Given the description of an element on the screen output the (x, y) to click on. 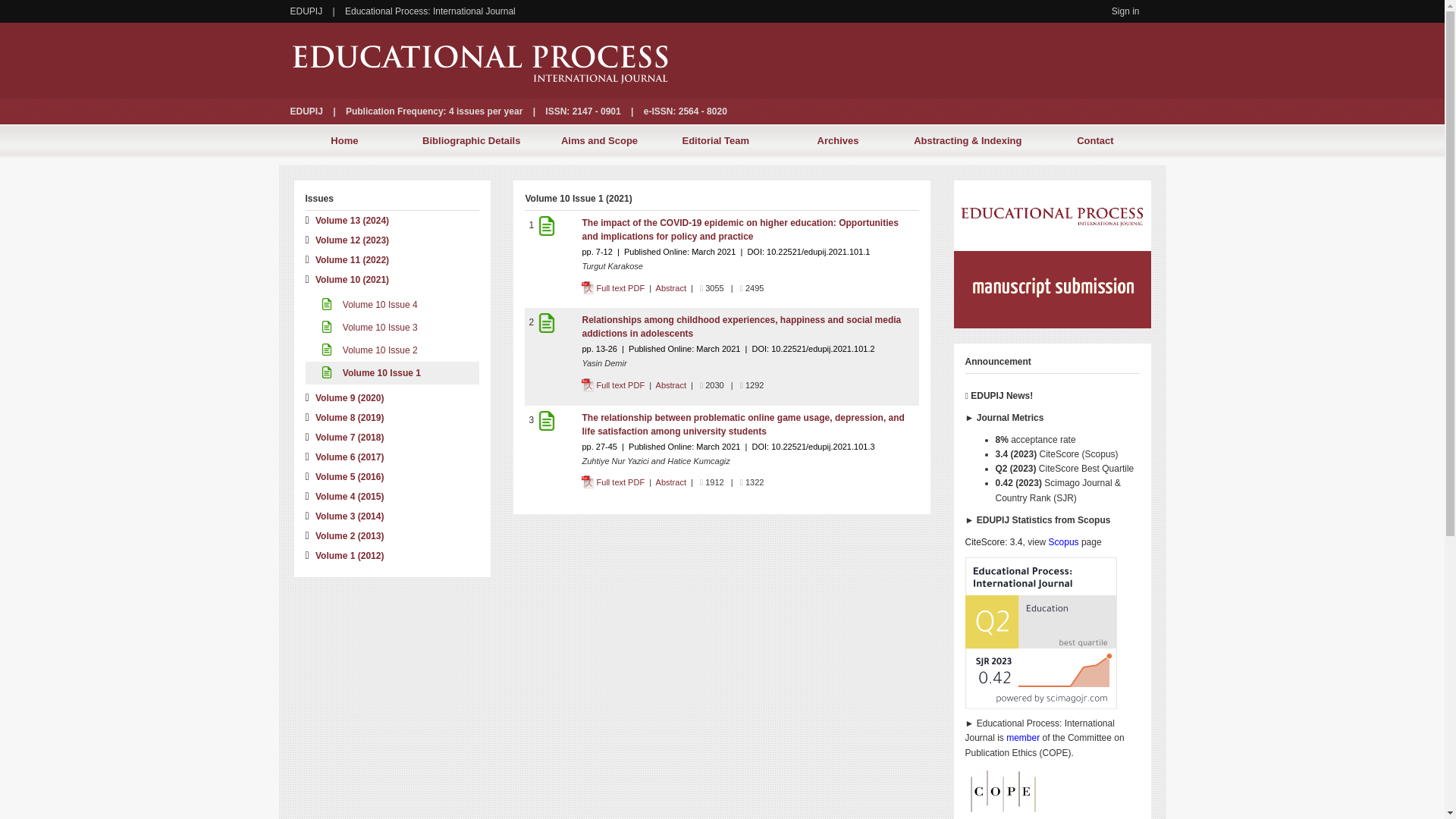
Bibliographic Details (470, 141)
Editorial Team (715, 141)
Volume 10 Issue 2 (368, 349)
Volume 10 Issue 3 (368, 327)
Volume 10 Issue 4 (368, 304)
Home (343, 141)
Sign in (1125, 10)
Archives (837, 141)
Contact (1094, 141)
Volume 10 Issue 1 (370, 372)
Aims and Scope (599, 141)
